Given the description of an element on the screen output the (x, y) to click on. 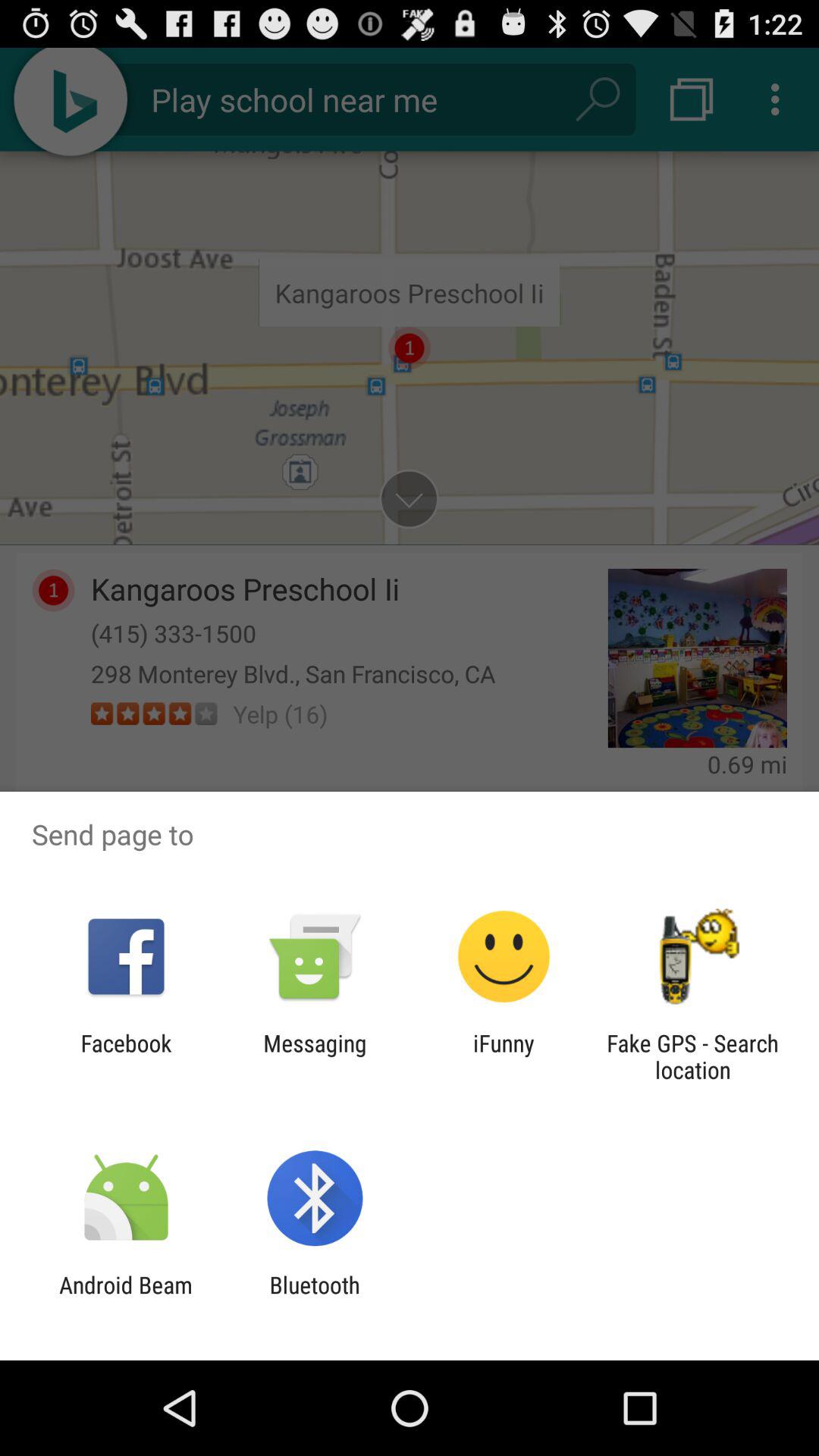
tap app to the left of fake gps search item (503, 1056)
